Given the description of an element on the screen output the (x, y) to click on. 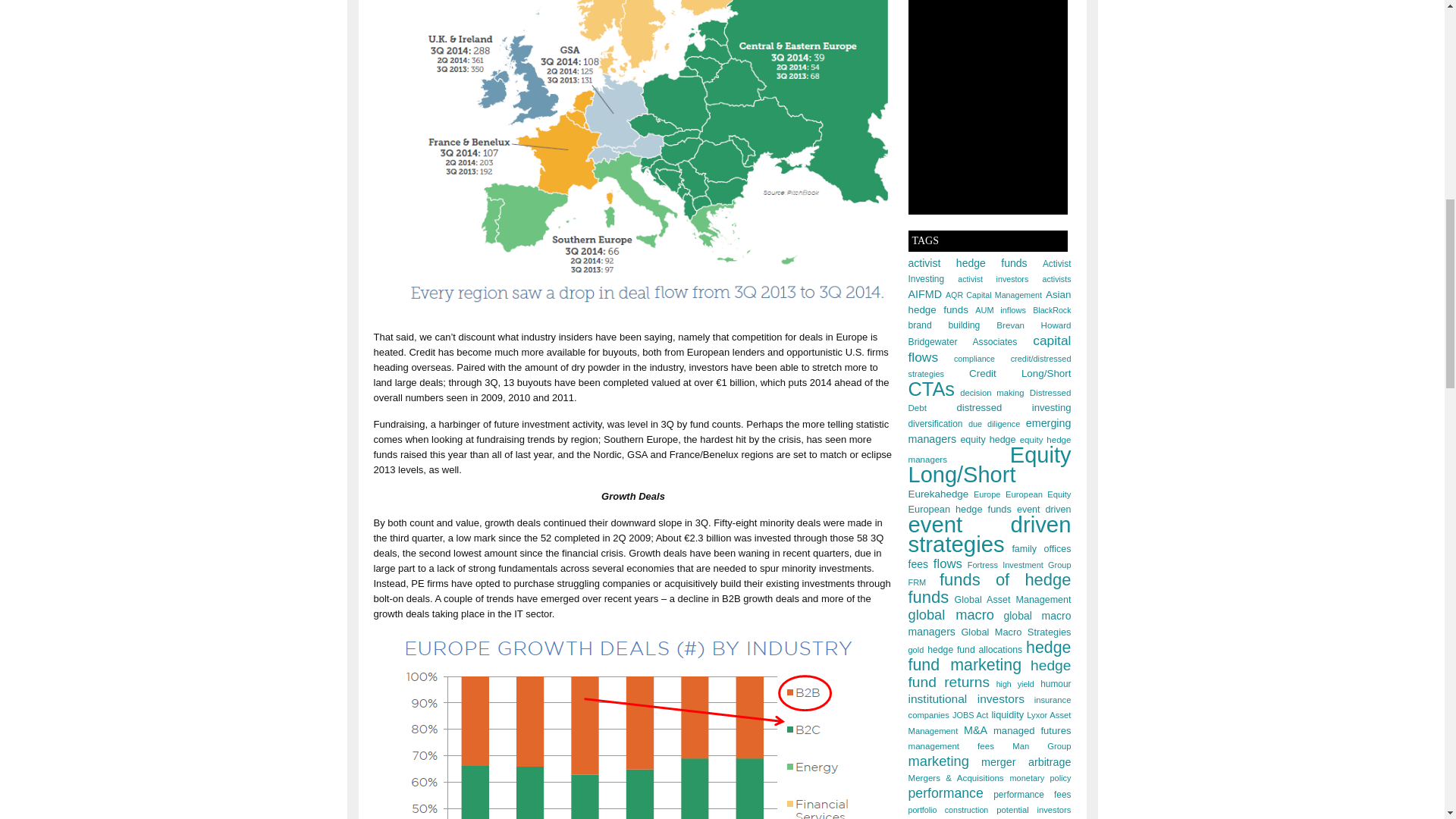
Activist Investing (989, 271)
10 topics (992, 278)
10 topics (1051, 309)
10 topics (1056, 278)
21 topics (967, 263)
15 topics (962, 341)
19 topics (989, 302)
10 topics (993, 294)
activists (1056, 278)
13 topics (1032, 325)
